Given the description of an element on the screen output the (x, y) to click on. 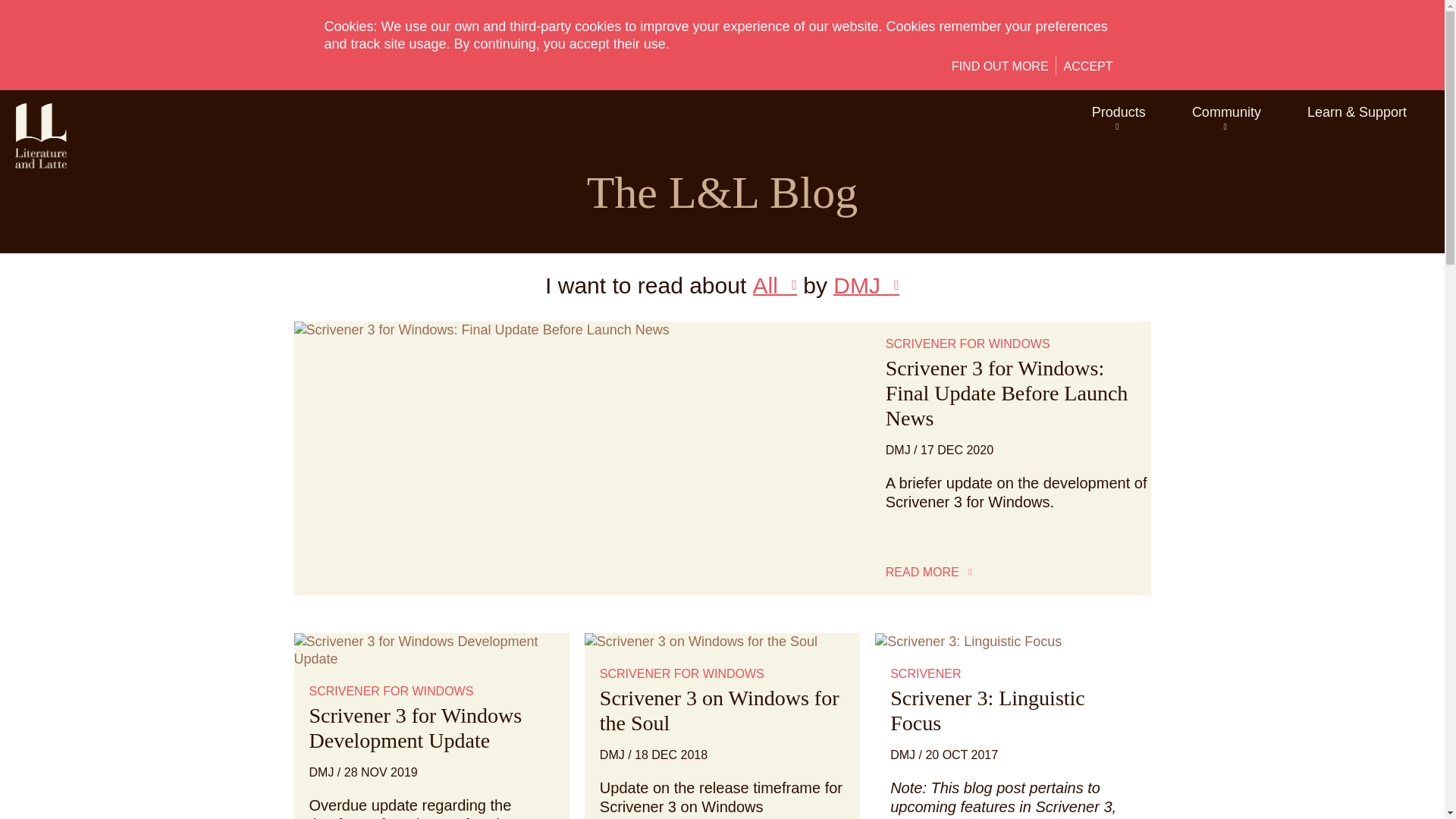
All (774, 284)
FIND OUT MORE (1000, 66)
Products (1118, 113)
Scrivener 3 for Windows: Final Update Before Launch News (1006, 392)
DMJ (898, 449)
SCRIVENER FOR WINDOWS (967, 343)
DMJ (865, 284)
Community (1226, 113)
ACCEPT (1088, 66)
